Given the description of an element on the screen output the (x, y) to click on. 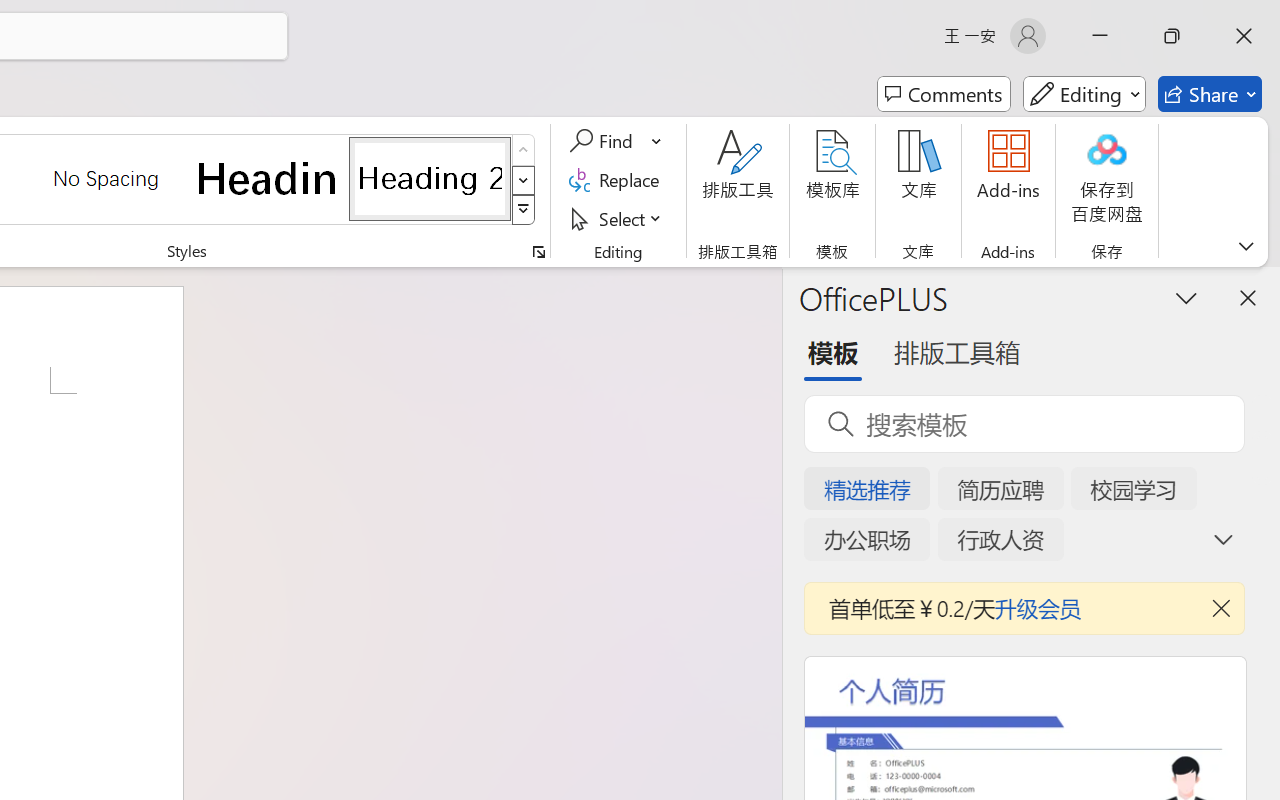
Select (618, 218)
Share (1210, 94)
Row Down (523, 180)
